Given the description of an element on the screen output the (x, y) to click on. 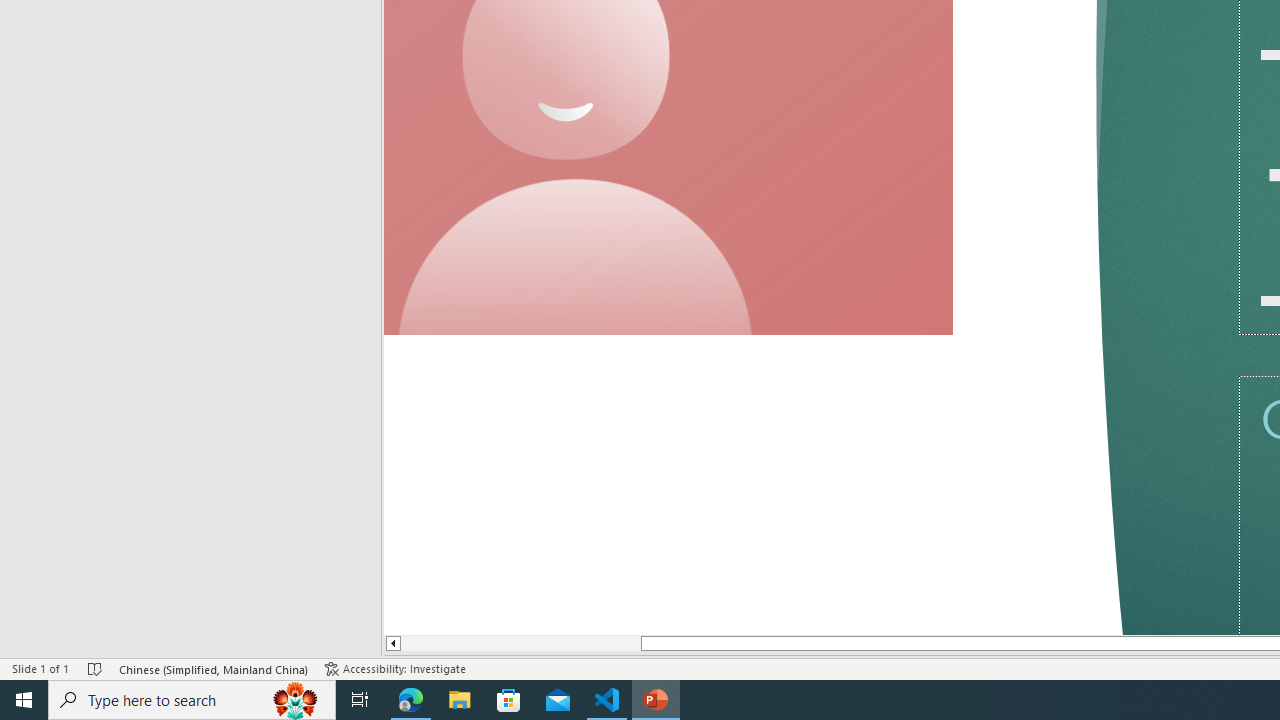
Page up (513, 643)
Spell Check No Errors (95, 668)
Line up (386, 643)
Accessibility Checker Accessibility: Investigate (397, 668)
